Given the description of an element on the screen output the (x, y) to click on. 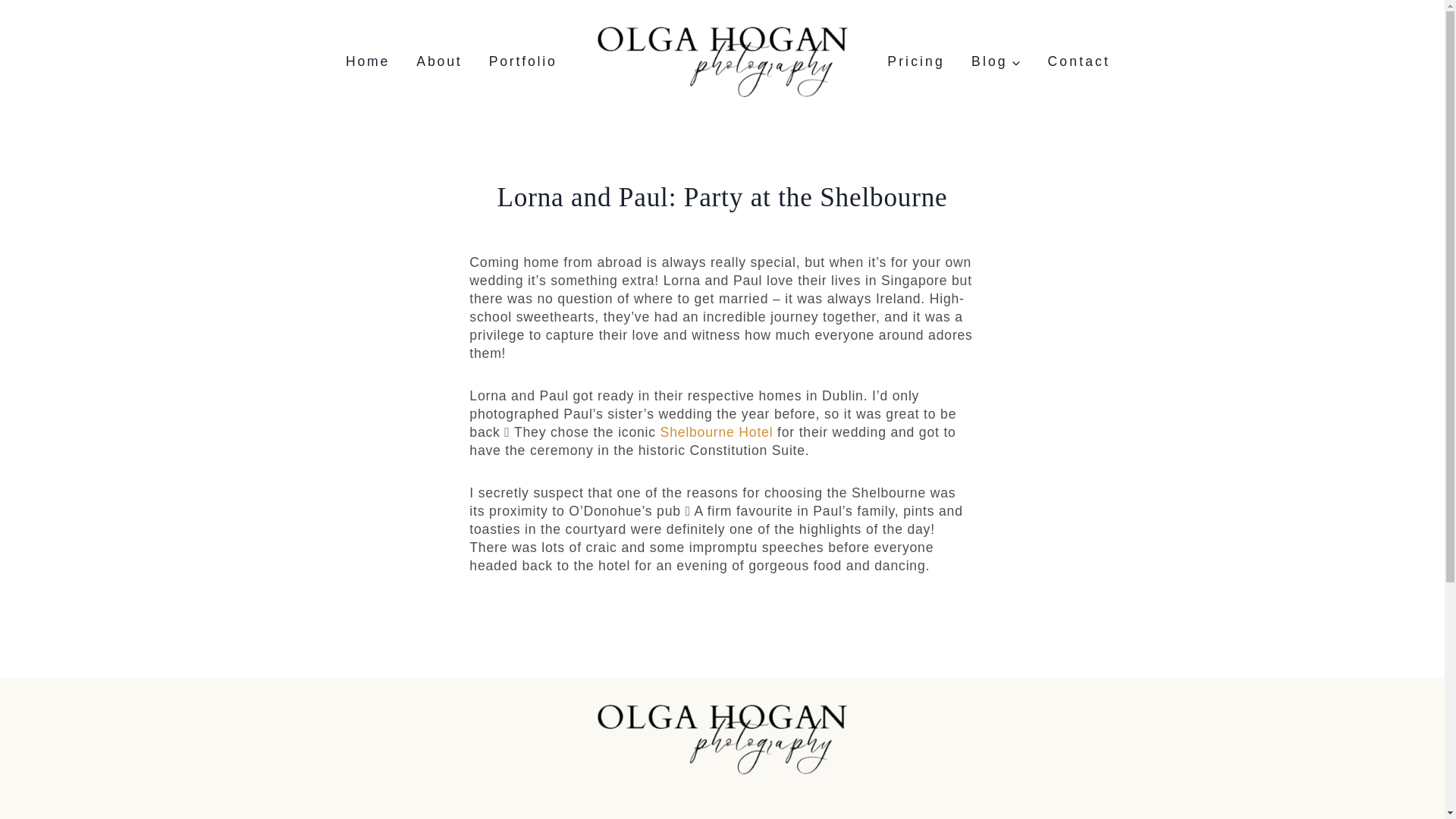
homepage (721, 739)
About (439, 61)
Home (367, 61)
Portfolio (523, 61)
Contact (1078, 61)
Blog (995, 61)
Pricing (916, 61)
Shelbourne Hotel (717, 432)
